Given the description of an element on the screen output the (x, y) to click on. 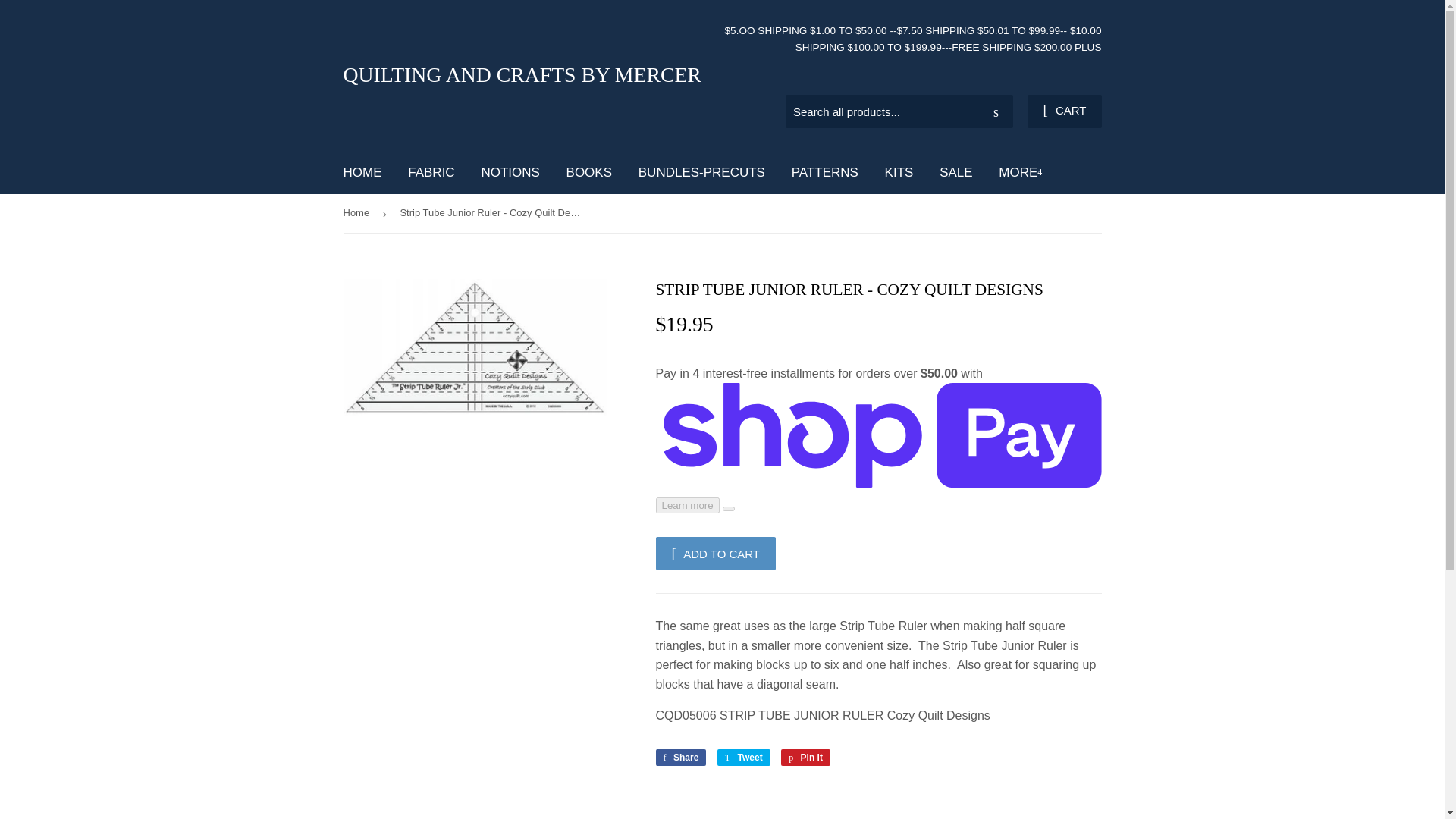
PATTERNS (680, 757)
ADD TO CART (824, 172)
HOME (715, 553)
Pin on Pinterest (362, 172)
Share on Facebook (804, 757)
Search (743, 757)
NOTIONS (680, 757)
SALE (995, 111)
MORE (509, 172)
BUNDLES-PRECUTS (956, 172)
QUILTING AND CRAFTS BY MERCER (1019, 172)
CART (701, 172)
Tweet on Twitter (532, 75)
